Given the description of an element on the screen output the (x, y) to click on. 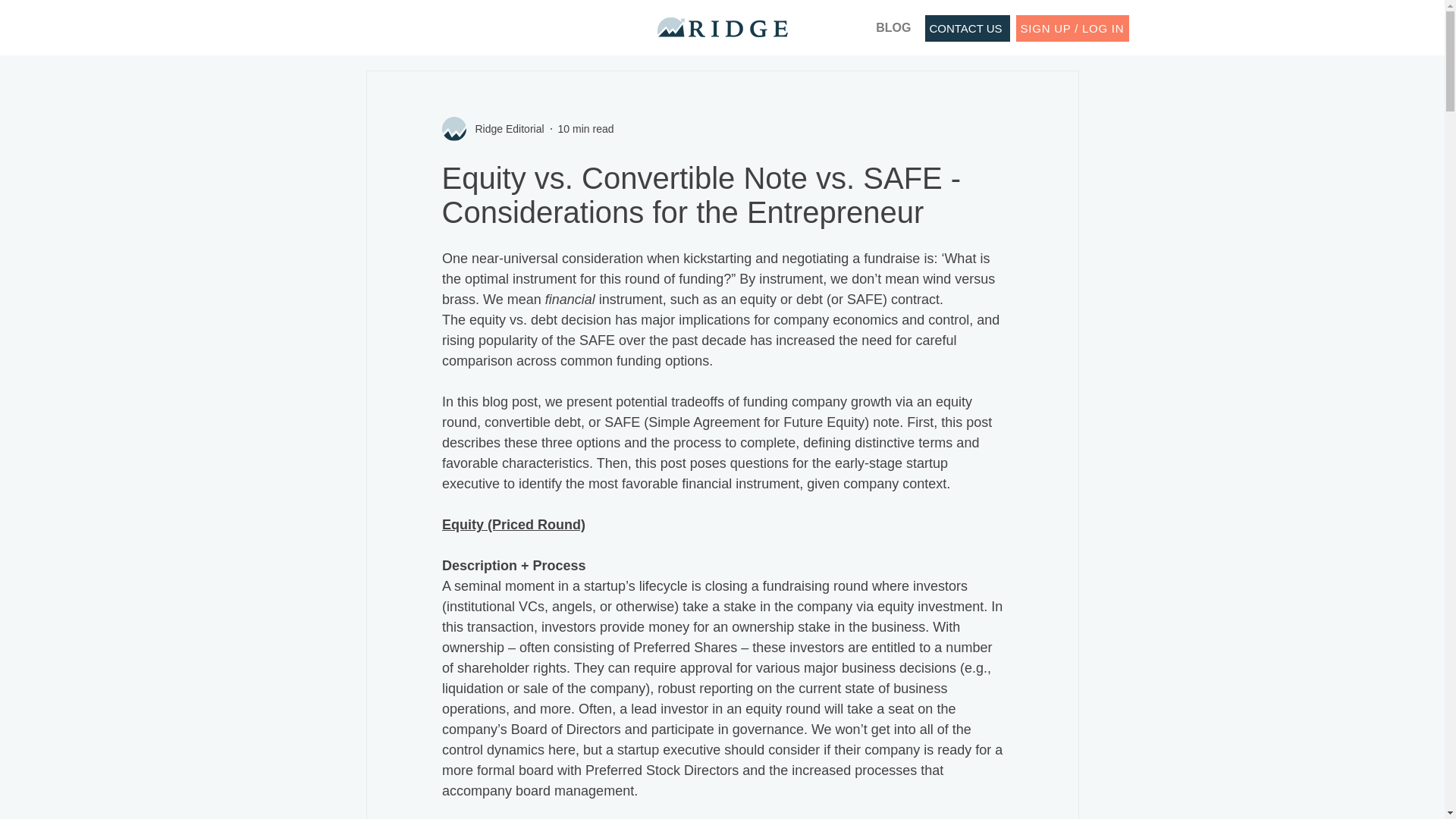
CONTACT US (967, 28)
BLOG (884, 27)
10 min read (585, 128)
Ridge Editorial (504, 129)
